Given the description of an element on the screen output the (x, y) to click on. 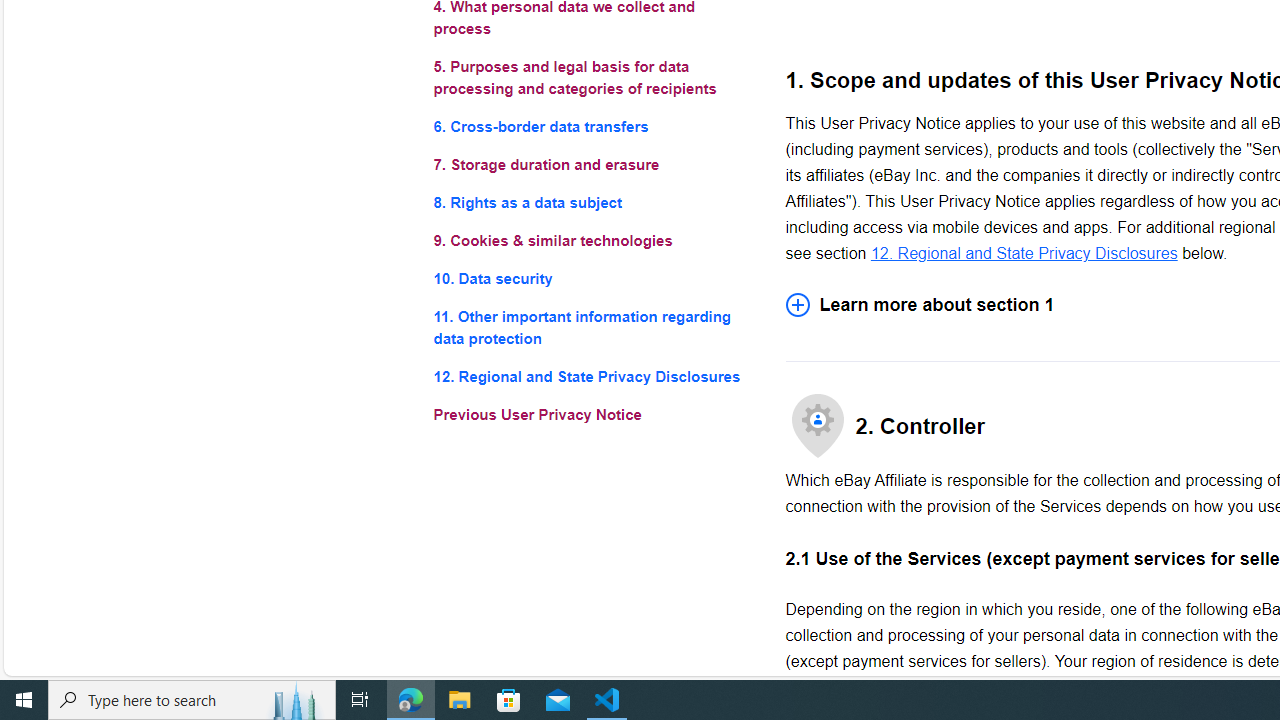
9. Cookies & similar technologies (592, 240)
Previous User Privacy Notice (592, 414)
11. Other important information regarding data protection (592, 328)
10. Data security (592, 278)
6. Cross-border data transfers (592, 126)
8. Rights as a data subject (592, 203)
11. Other important information regarding data protection (592, 328)
12. Regional and State Privacy Disclosures (1023, 253)
6. Cross-border data transfers (592, 126)
7. Storage duration and erasure (592, 164)
7. Storage duration and erasure (592, 164)
9. Cookies & similar technologies (592, 240)
Previous User Privacy Notice (592, 414)
